Given the description of an element on the screen output the (x, y) to click on. 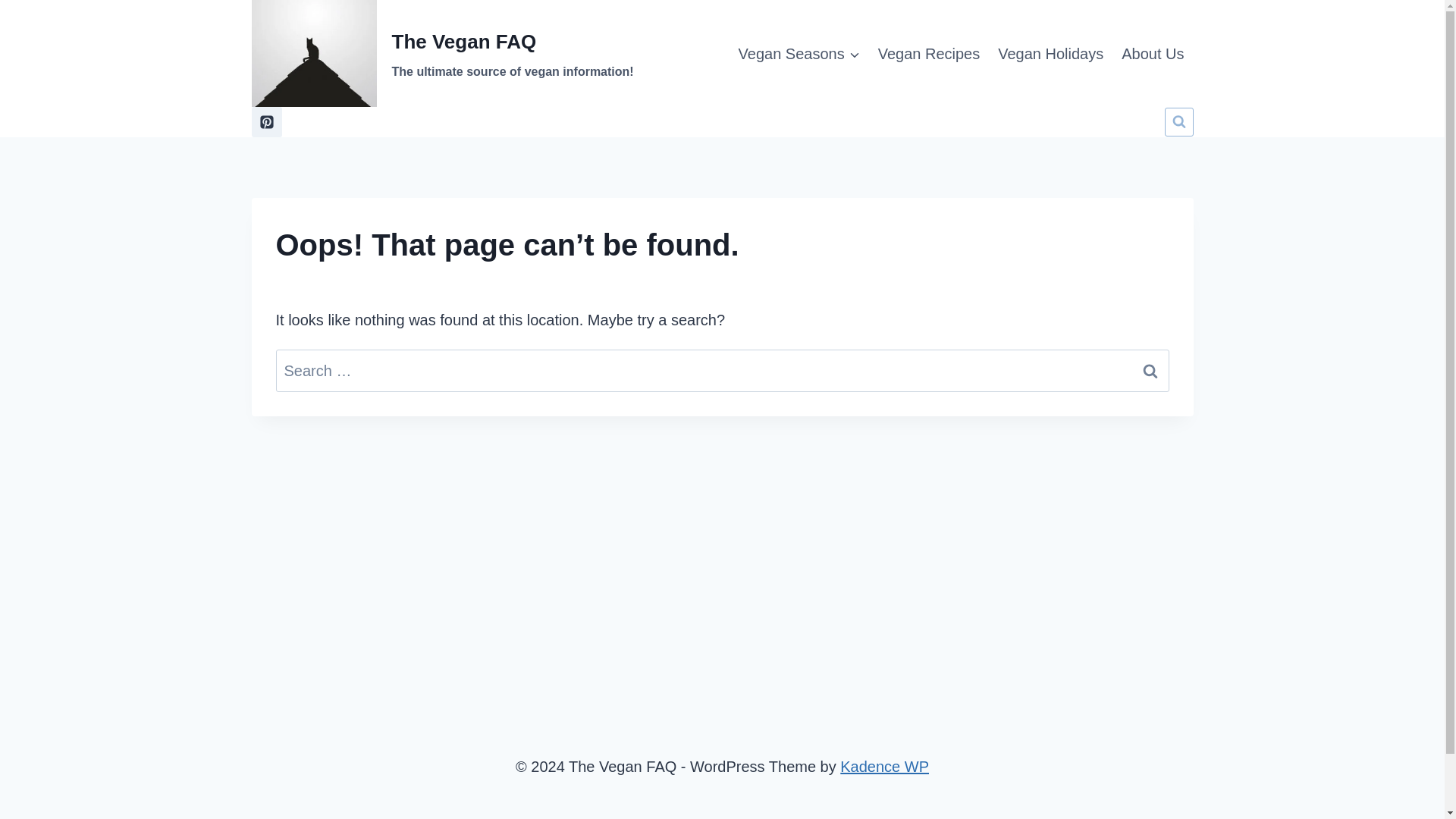
Search (1150, 370)
Kadence WP (884, 766)
Vegan Recipes (929, 53)
Vegan Seasons (799, 53)
Search (1150, 370)
Search (1150, 370)
Vegan Holidays (1050, 53)
About Us (1152, 53)
